Given the description of an element on the screen output the (x, y) to click on. 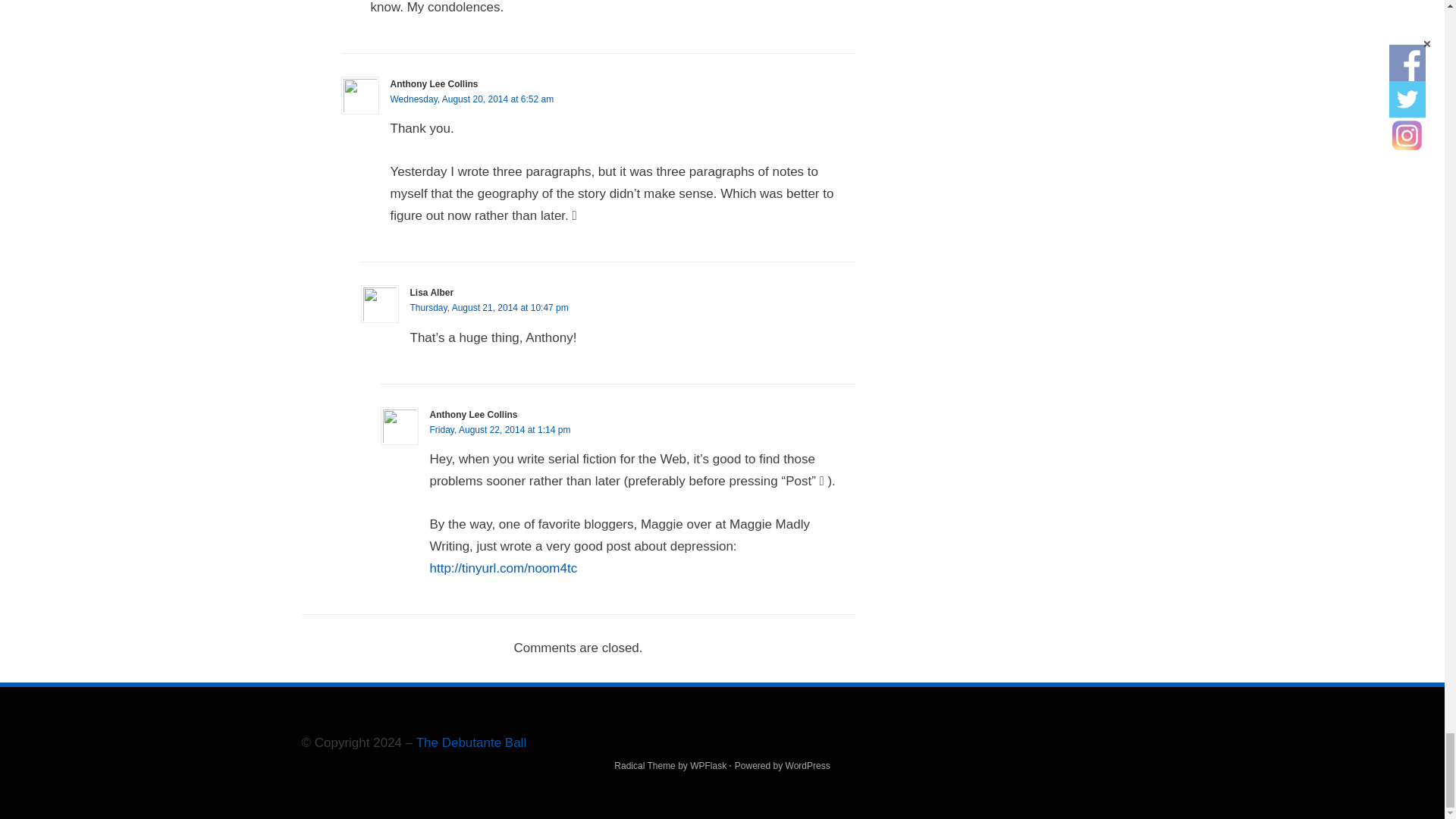
WPFlask (708, 765)
WordPress (807, 765)
